Given the description of an element on the screen output the (x, y) to click on. 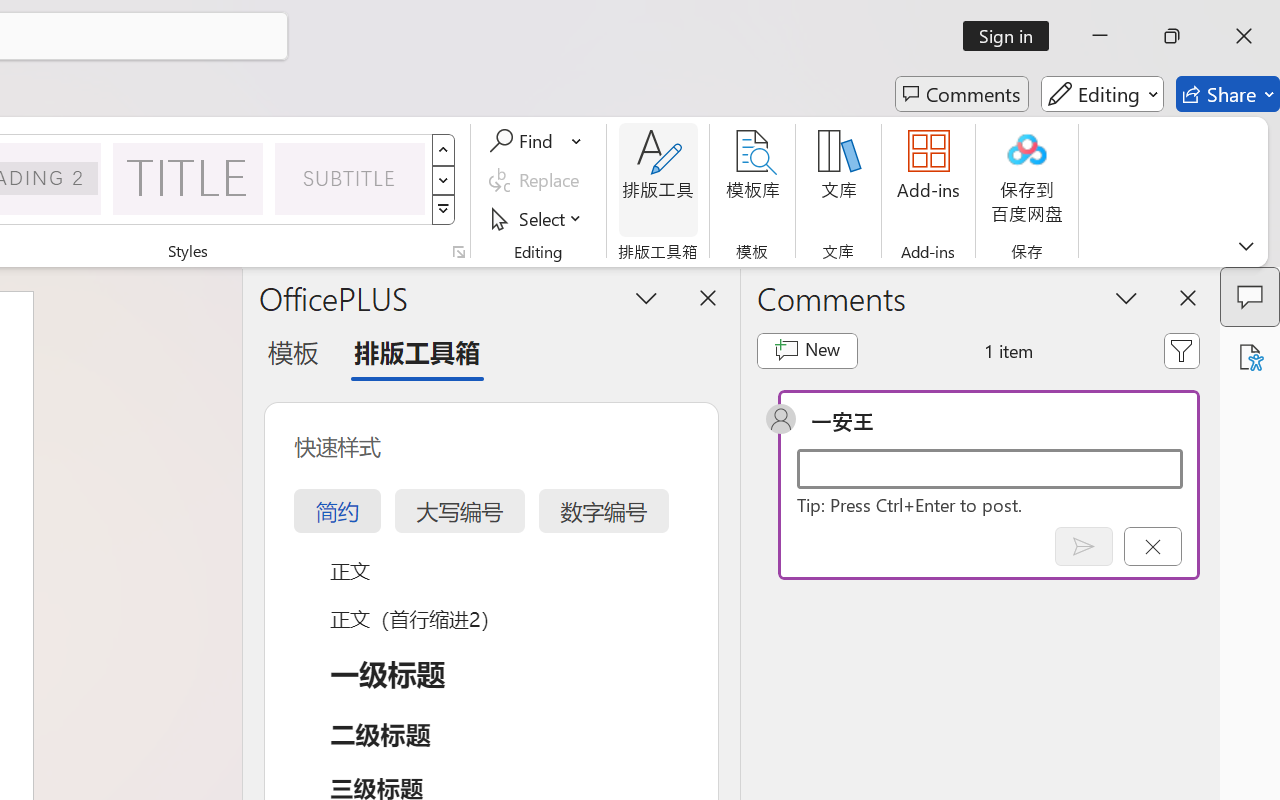
Editing (1101, 94)
Filter (1181, 350)
New comment (806, 350)
